Given the description of an element on the screen output the (x, y) to click on. 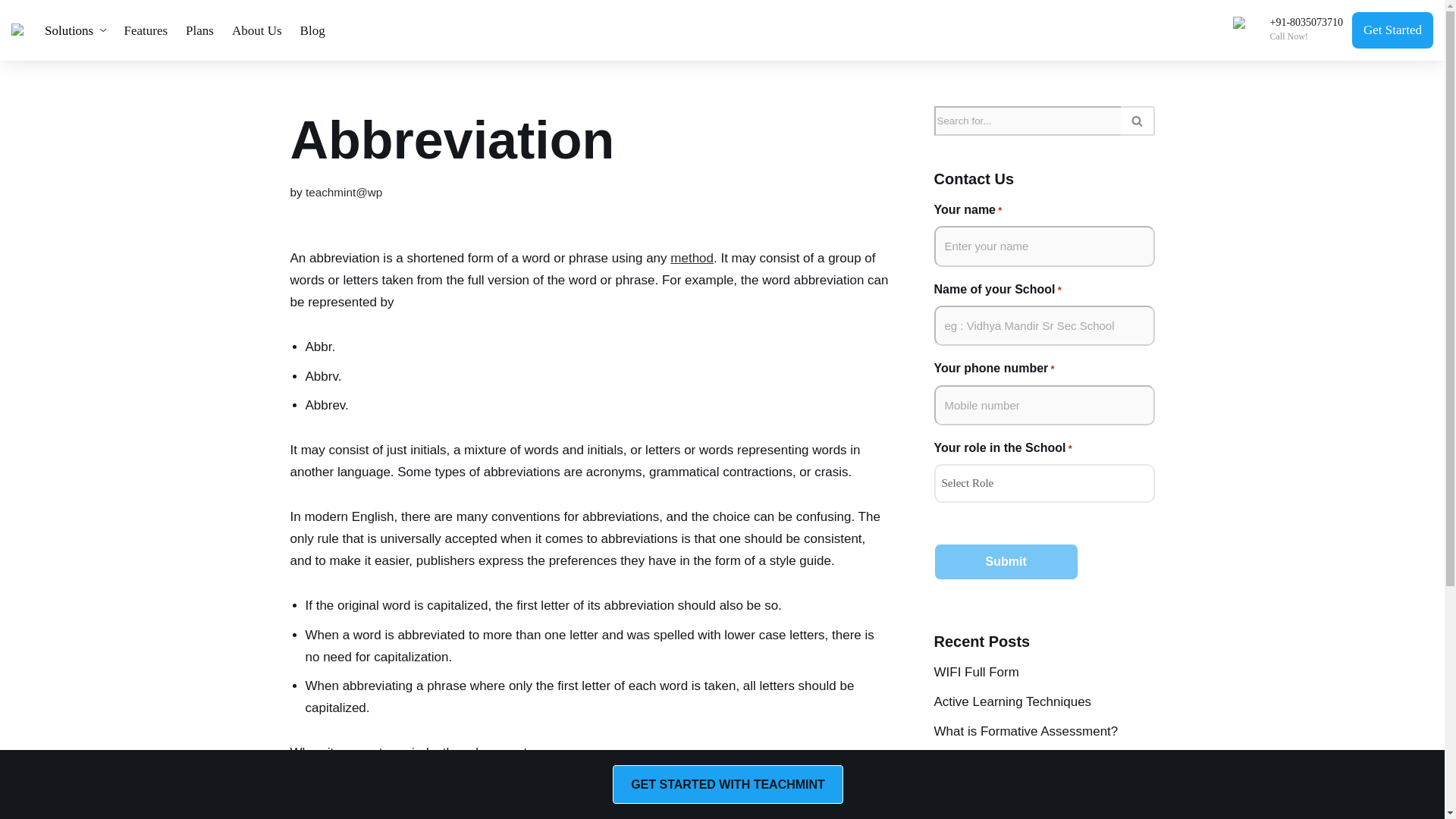
Features (146, 30)
About Us (256, 30)
Skip to content (11, 31)
Blog (312, 30)
Submit (1006, 561)
Plans (199, 30)
